Given the description of an element on the screen output the (x, y) to click on. 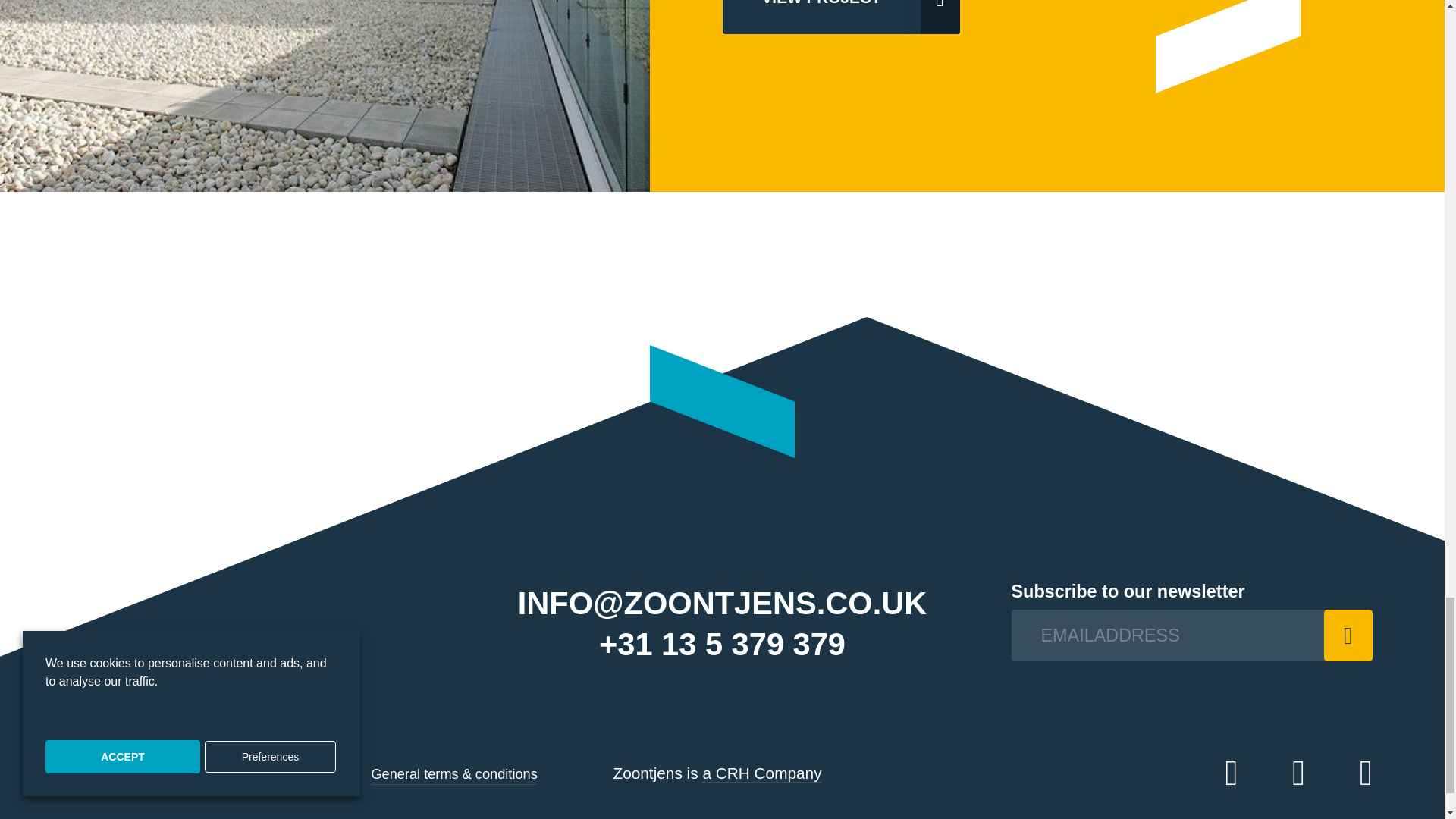
Privacy (256, 774)
View Project (840, 17)
CRH (761, 773)
Disclaimer (324, 774)
